Given the description of an element on the screen output the (x, y) to click on. 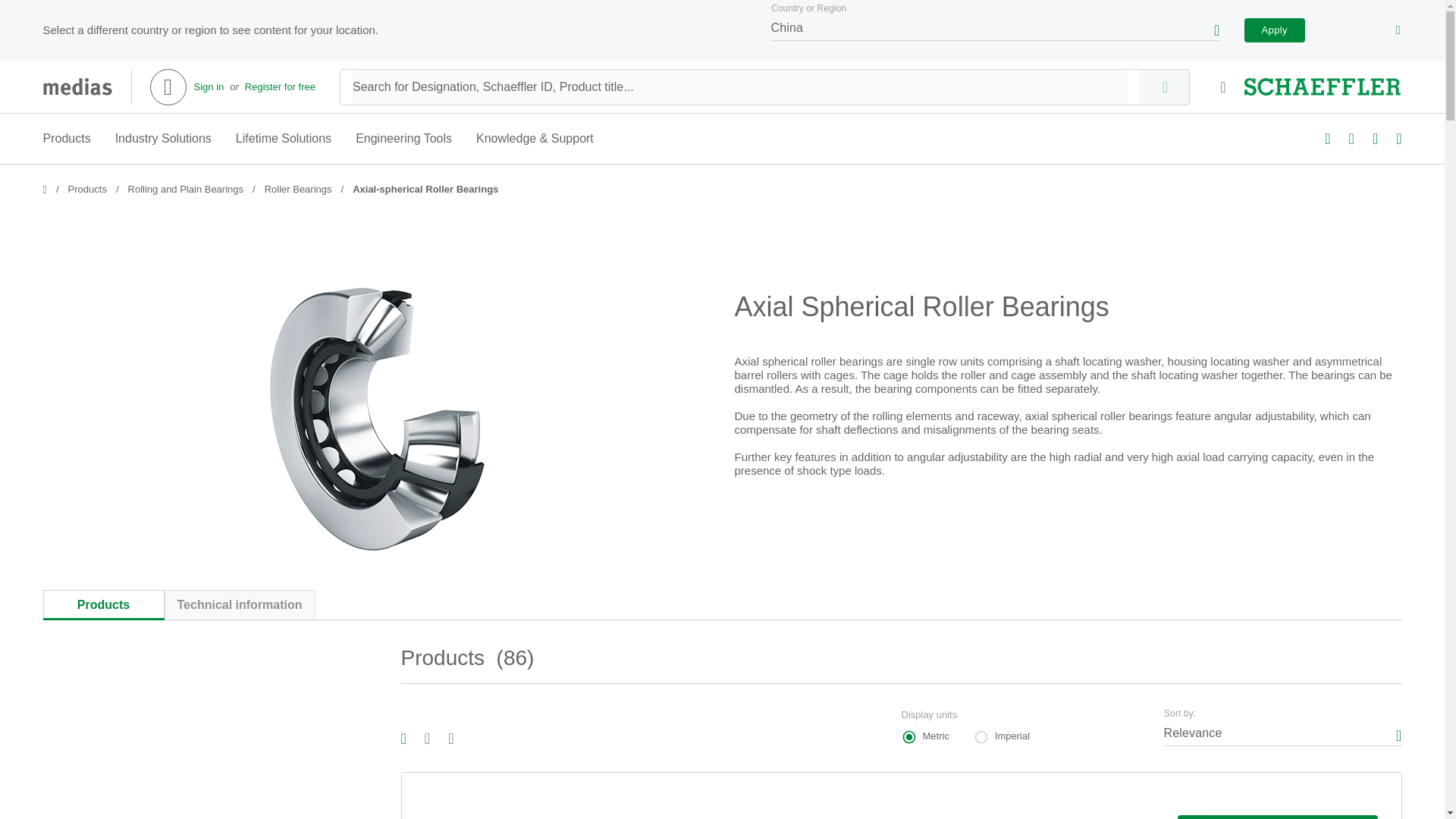
Launch Assistant (1276, 816)
Technical information (238, 604)
Products (87, 189)
Roller Bearings (297, 189)
Products (102, 604)
Apply (1273, 30)
Sign in (208, 87)
Register for free (721, 604)
Rolling and Plain Bearings (279, 87)
